Given the description of an element on the screen output the (x, y) to click on. 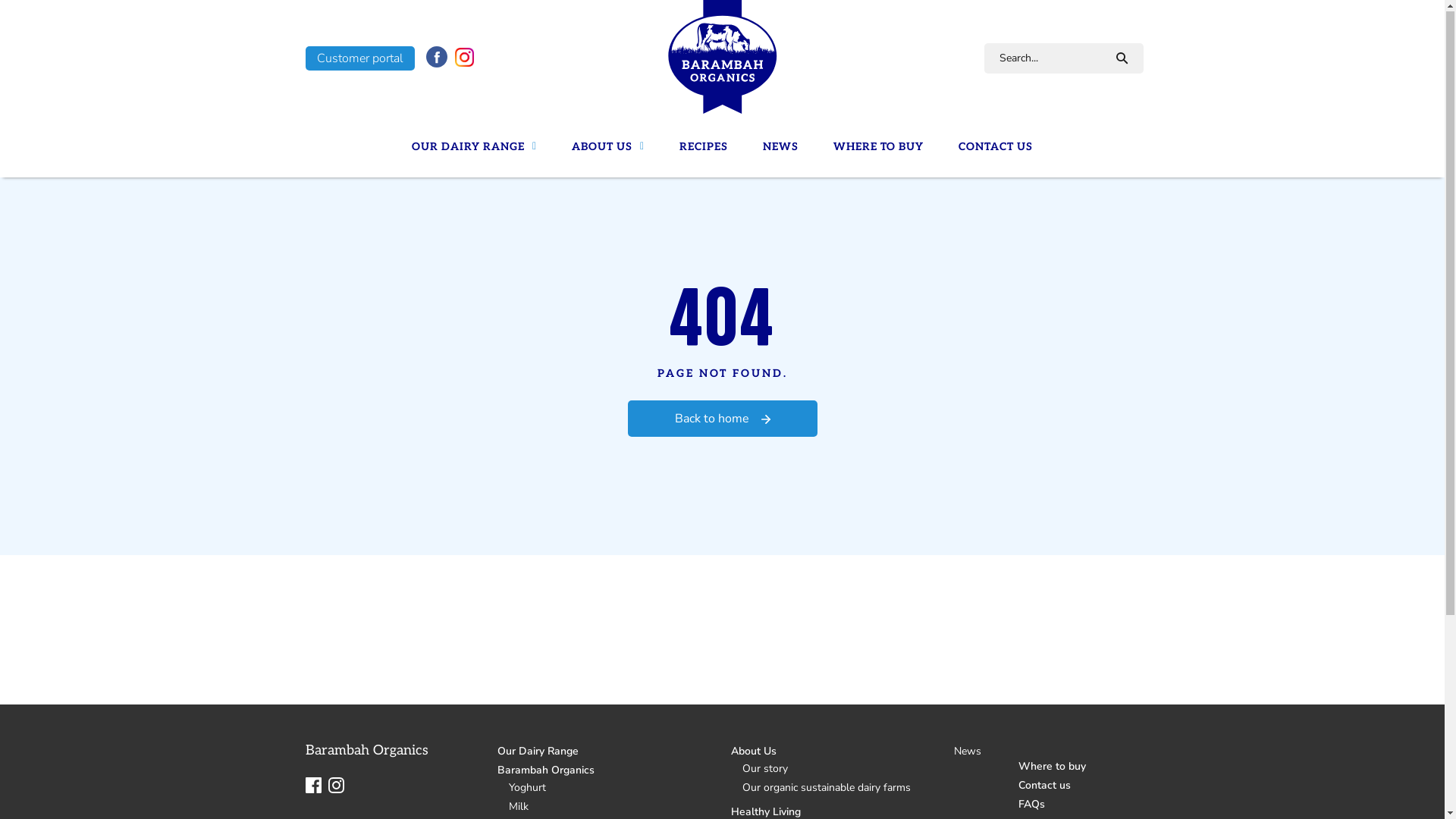
Our story Element type: text (759, 769)
WHERE TO BUY Element type: text (878, 147)
FAQs Element type: text (1031, 804)
Milk Element type: text (512, 807)
Contact us Element type: text (1044, 785)
News Element type: text (961, 751)
NEWS Element type: text (780, 147)
Our organic sustainable dairy farms Element type: text (820, 788)
Yoghurt Element type: text (521, 788)
OUR DAIRY RANGE Element type: text (473, 147)
RECIPES Element type: text (703, 147)
Back to home Element type: text (722, 419)
Customer portal Element type: text (359, 59)
Our Dairy Range Element type: text (537, 751)
ABOUT US Element type: text (607, 147)
Where to buy Element type: text (1051, 766)
Barambah Organics Element type: text (545, 770)
About Us Element type: text (753, 751)
CONTACT US Element type: text (995, 147)
